Given the description of an element on the screen output the (x, y) to click on. 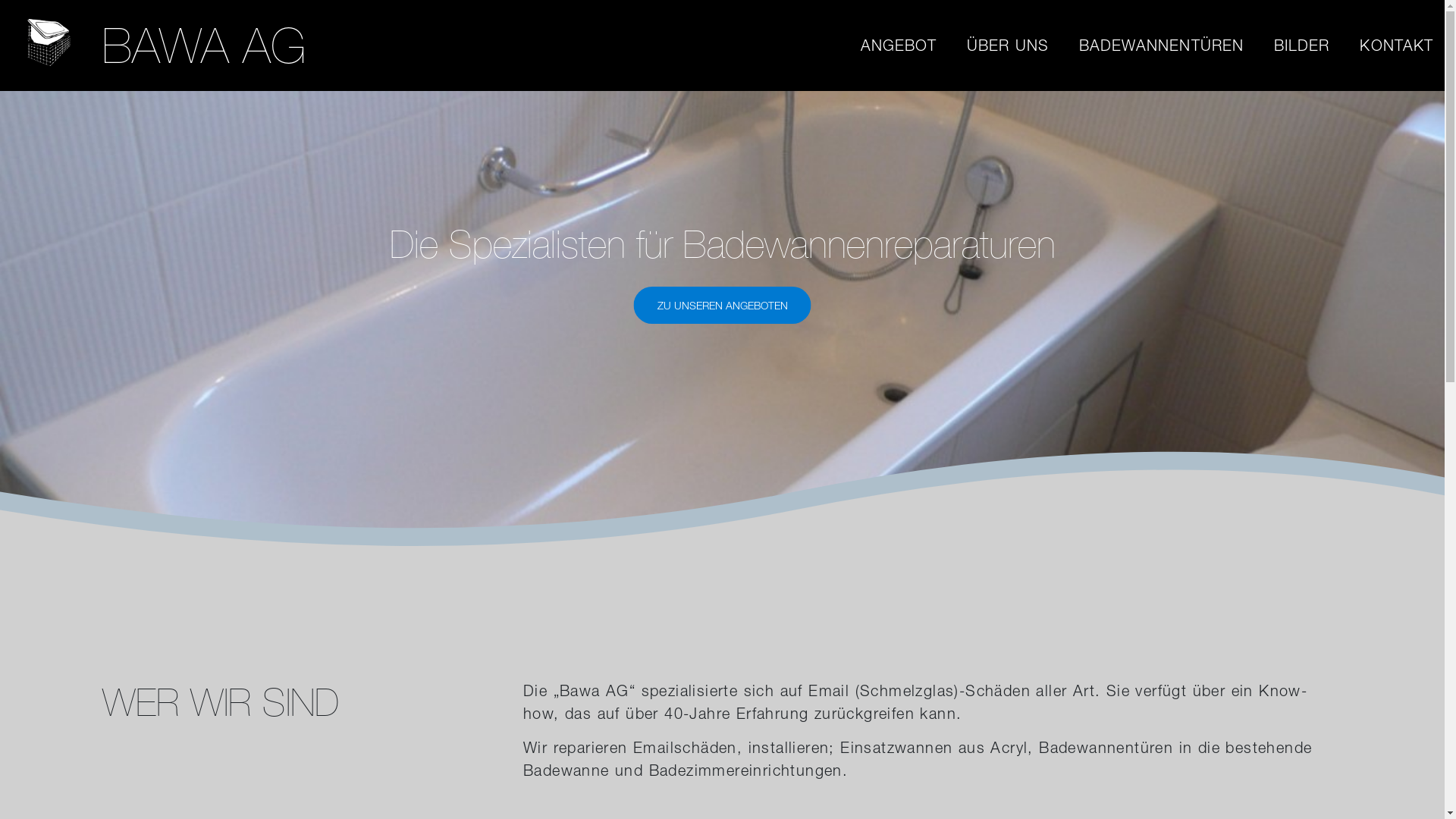
KONTAKT Element type: text (1396, 44)
ZU UNSEREN ANGEBOTEN Element type: text (722, 304)
BAWA AG Element type: text (49, 45)
BILDER Element type: text (1301, 44)
ZU UNSEREN ANGEBOTEN Element type: text (722, 301)
ANGEBOT Element type: text (898, 44)
